Given the description of an element on the screen output the (x, y) to click on. 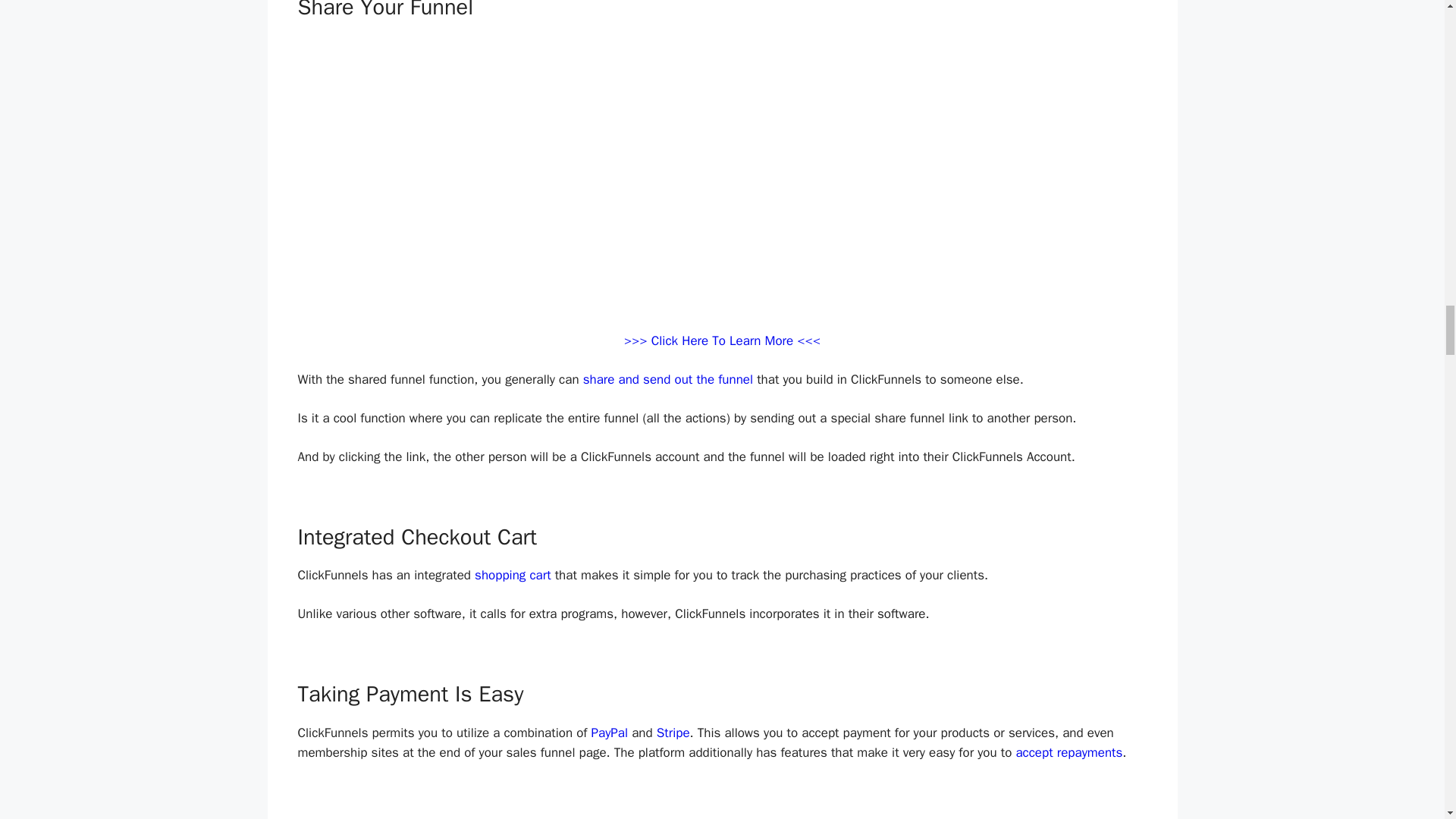
accept repayments (1068, 752)
shopping cart (512, 575)
share and send out the funnel (667, 379)
PayPal (609, 732)
Stripe (673, 732)
